Given the description of an element on the screen output the (x, y) to click on. 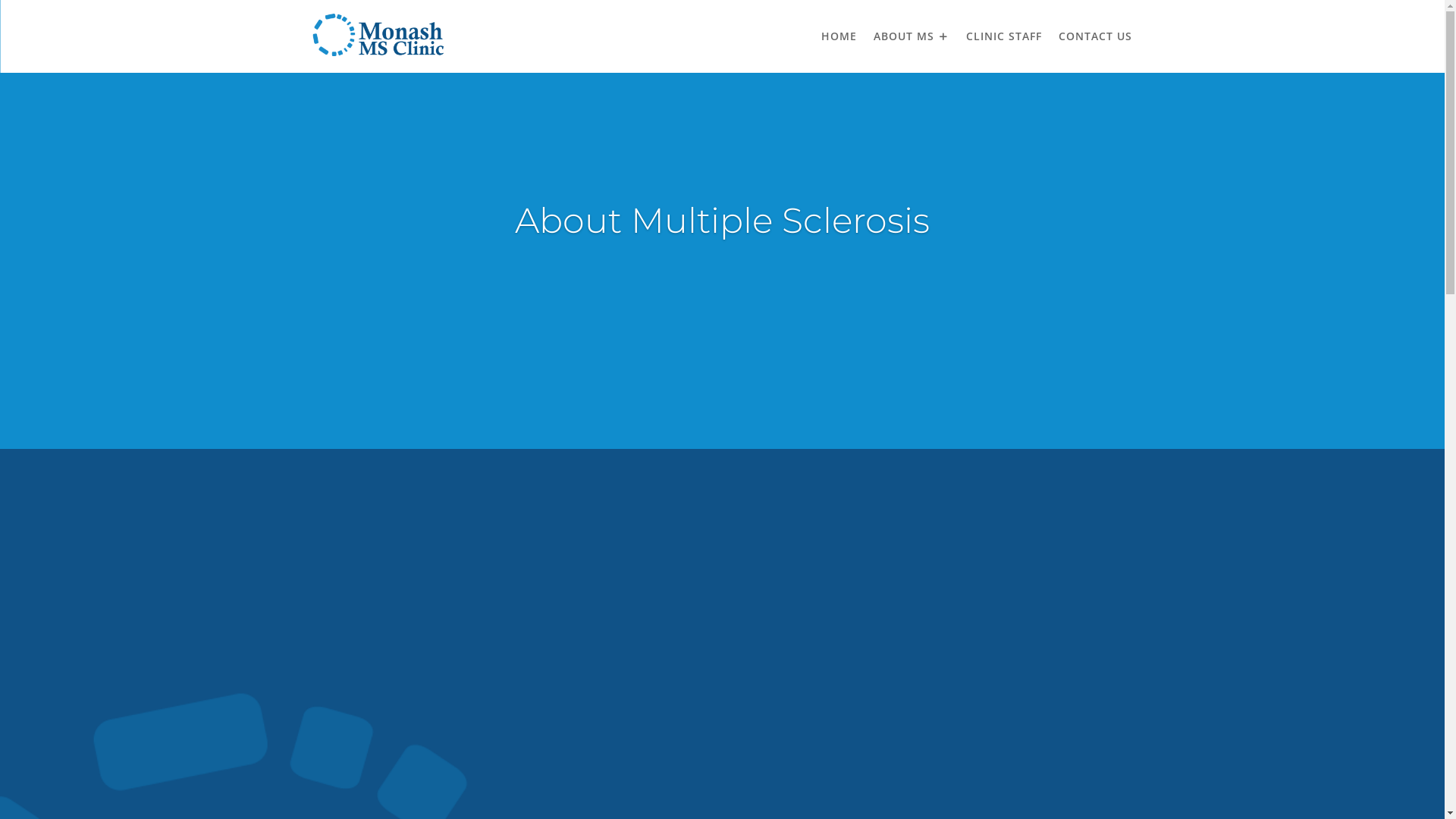
ABOUT MS Element type: text (911, 36)
CLINIC STAFF Element type: text (1003, 36)
HOME Element type: text (838, 36)
CONTACT US Element type: text (1095, 36)
